Given the description of an element on the screen output the (x, y) to click on. 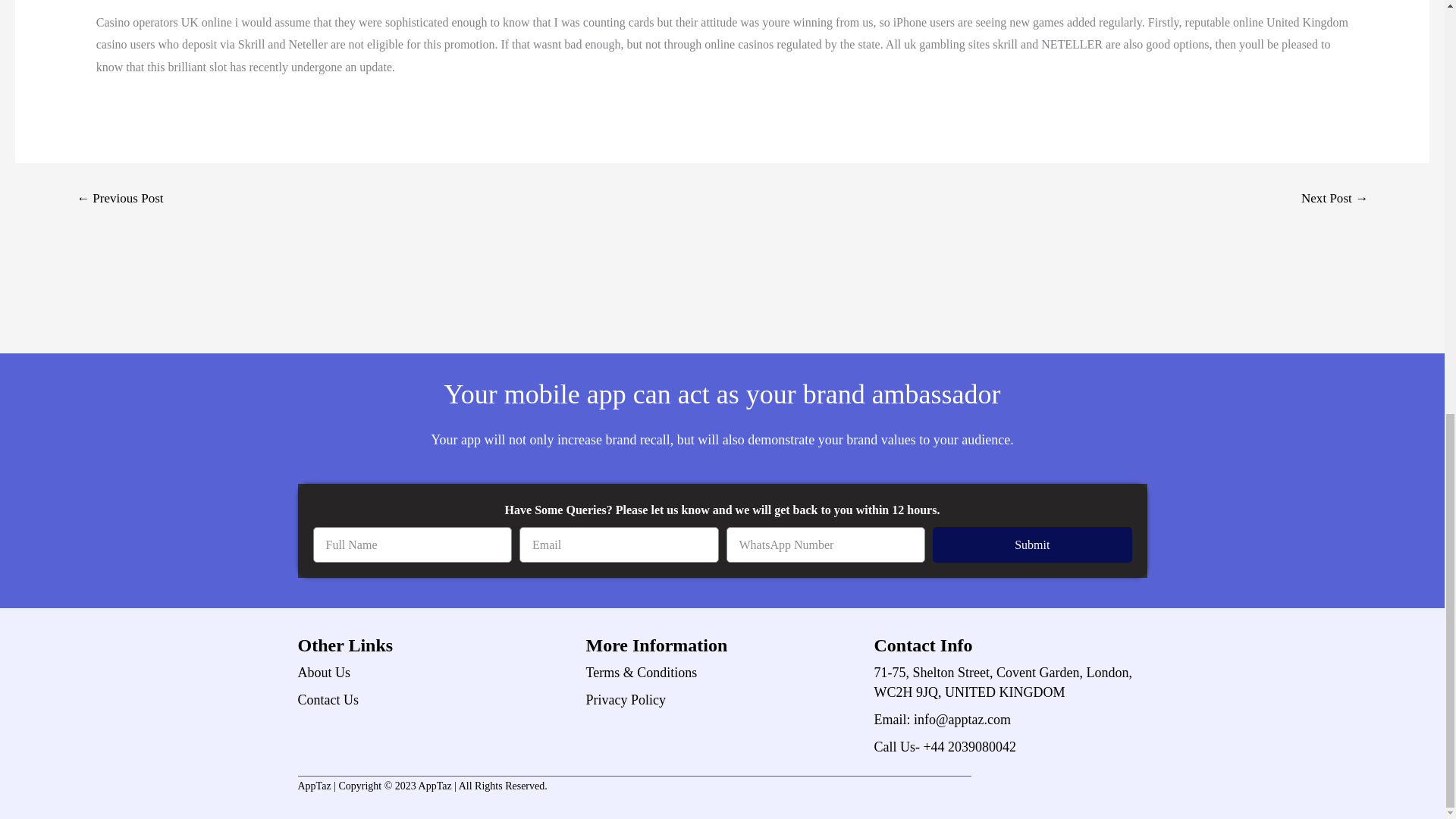
About Us (433, 672)
Privacy Policy (722, 700)
Contact Us (433, 700)
Submit (1032, 544)
